Given the description of an element on the screen output the (x, y) to click on. 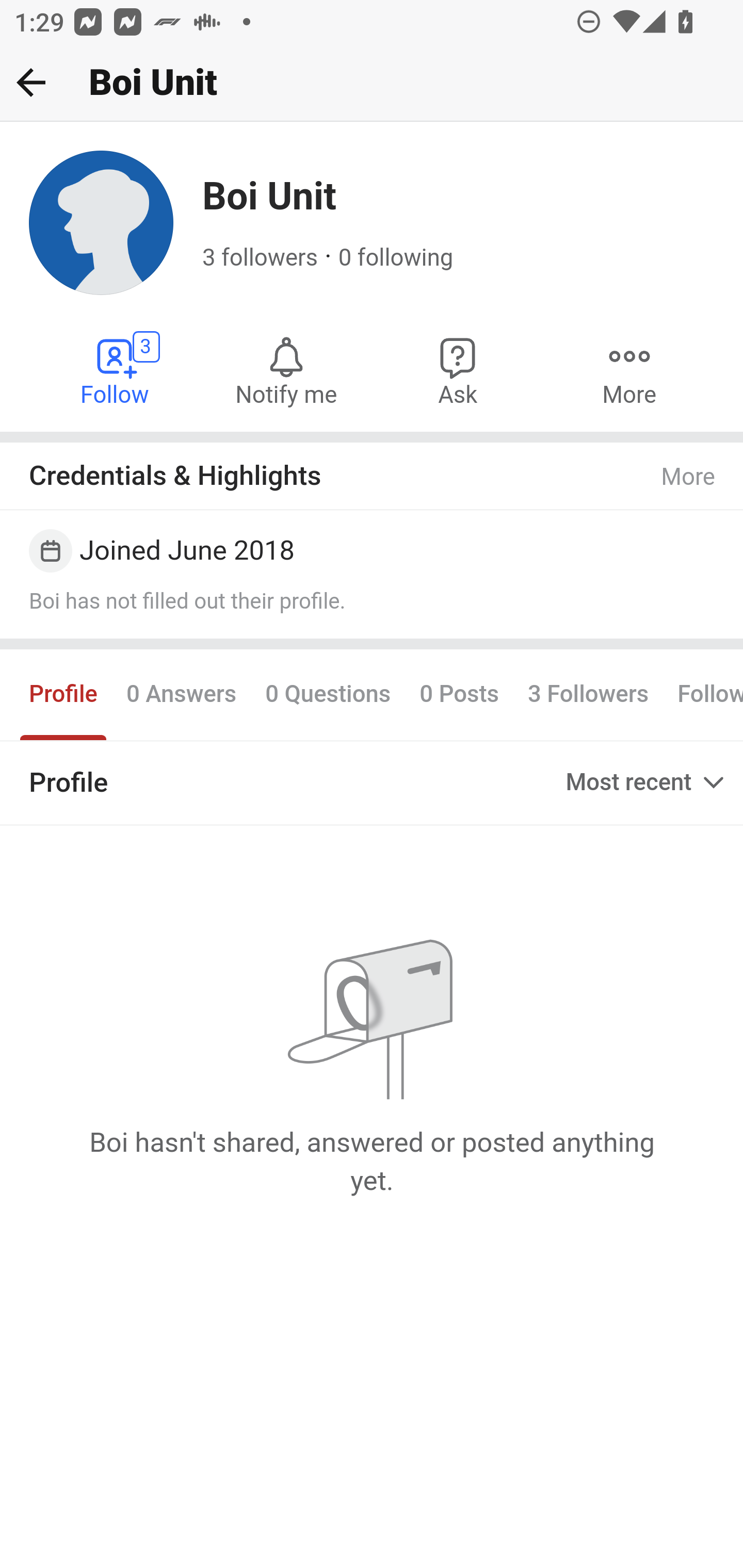
Back (30, 82)
3 followers (260, 257)
0 following (395, 257)
Follow Boi Unit 3 Follow (115, 370)
Notify me (285, 370)
Ask (458, 370)
More (628, 370)
More (688, 477)
Profile (63, 694)
0 Answers (180, 694)
0 Questions (327, 694)
0 Posts (459, 694)
3 Followers (588, 694)
Most recent (647, 782)
